Given the description of an element on the screen output the (x, y) to click on. 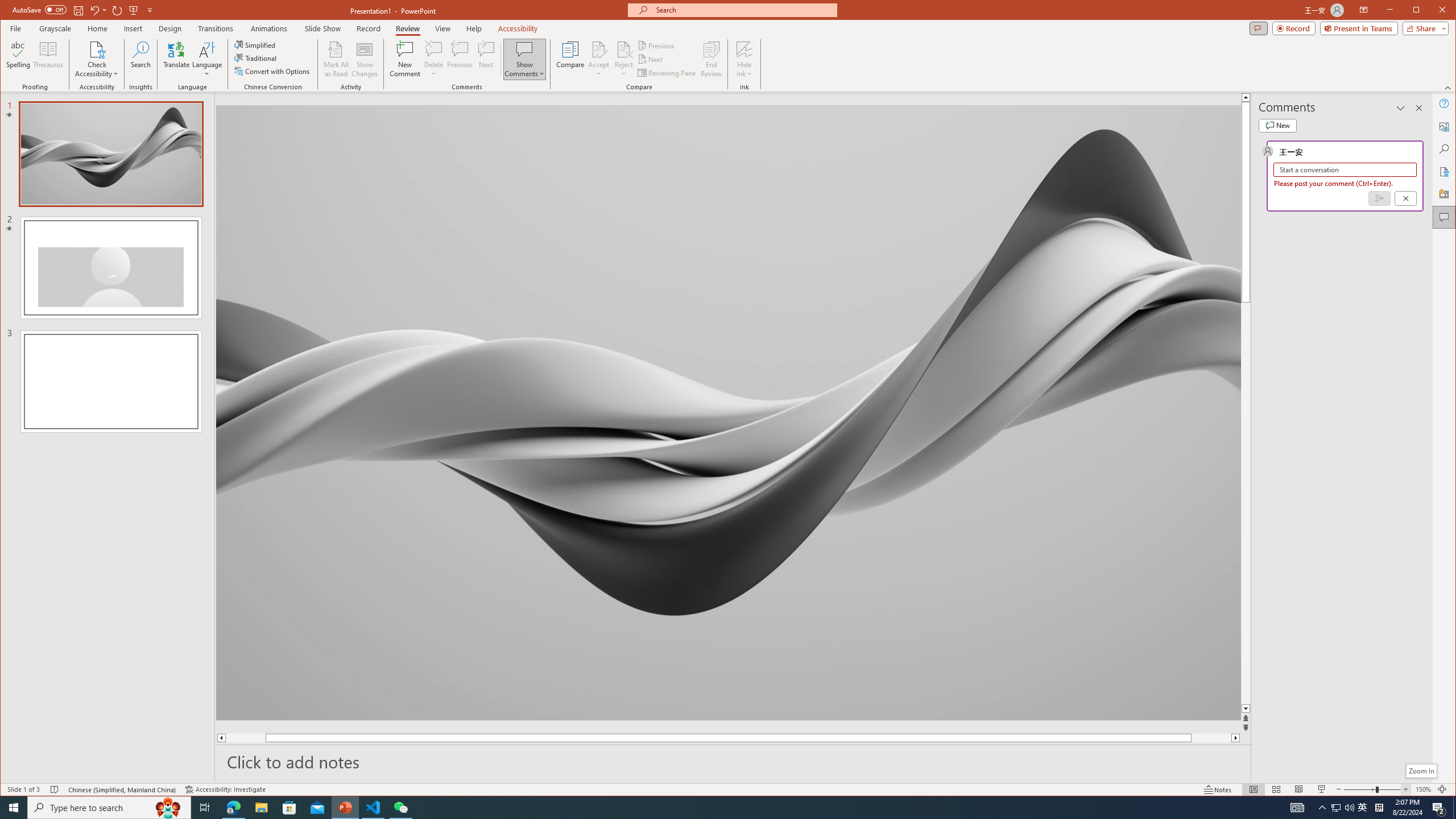
Reviewing Pane (667, 72)
Accept (598, 59)
Start a conversation (1344, 169)
End Review (710, 59)
New Comment (405, 59)
